Given the description of an element on the screen output the (x, y) to click on. 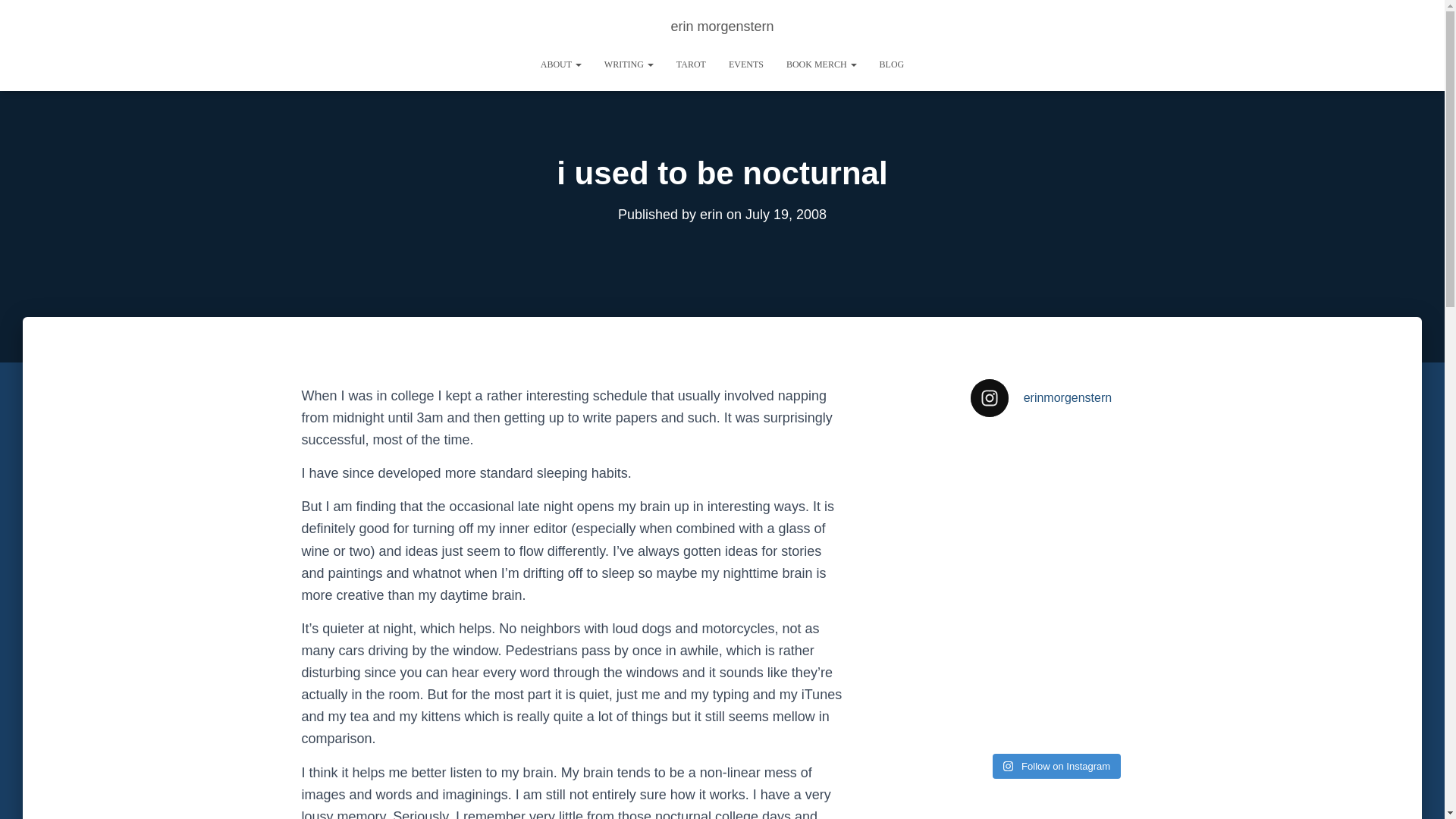
TAROT (691, 64)
BLOG (891, 64)
WRITING (628, 64)
erin morgenstern (721, 26)
ABOUT (560, 64)
Follow on Instagram (1056, 766)
tarot (691, 64)
erin (711, 214)
BOOK MERCH (820, 64)
erin morgenstern (721, 26)
